Given the description of an element on the screen output the (x, y) to click on. 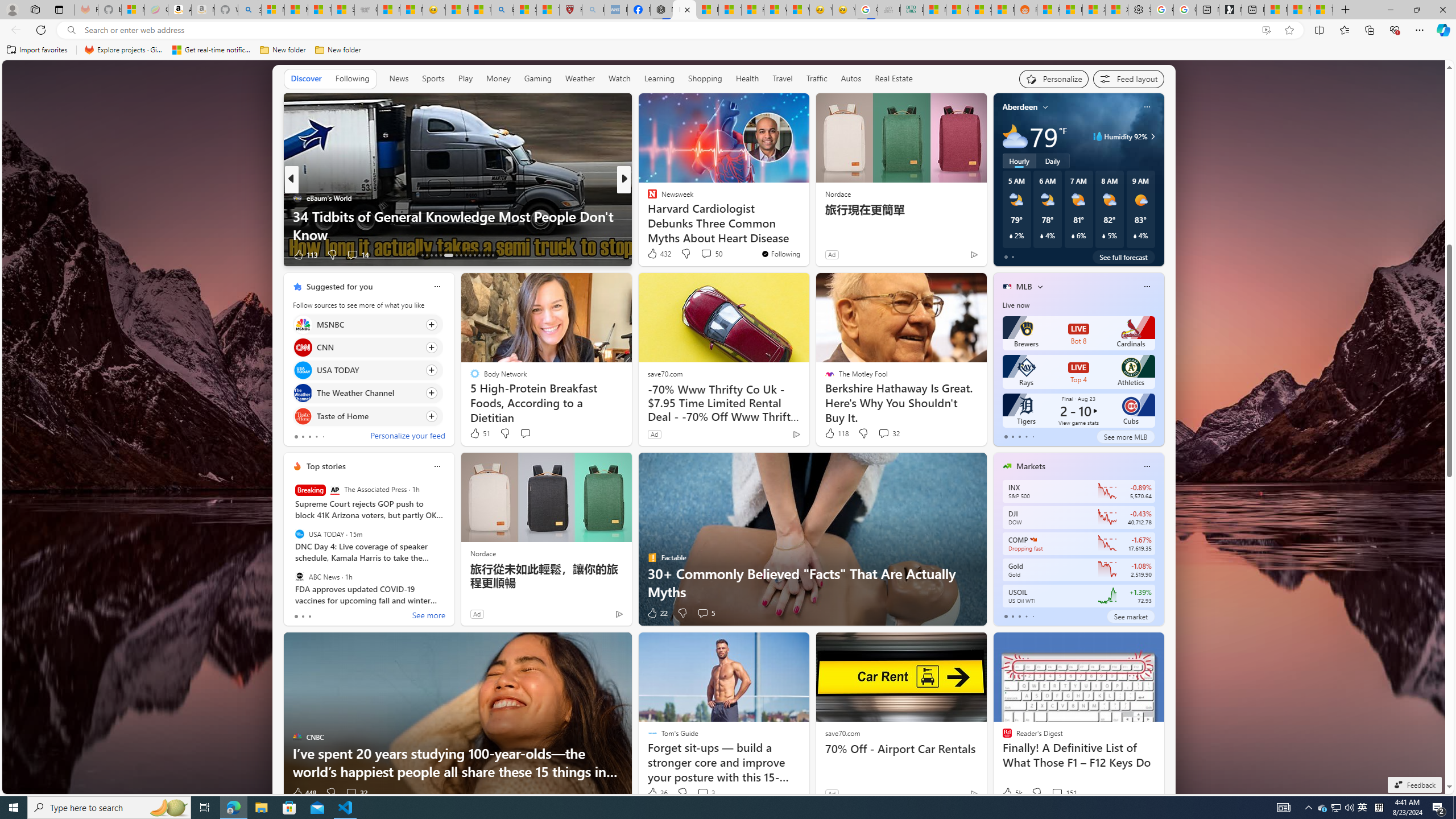
Bing (502, 9)
AutomationID: tab-68 (431, 255)
14 Common Myths Debunked By Scientific Facts (729, 9)
Play (465, 78)
1 Like (651, 254)
Rays LIVE Top 4 Athletics (1077, 371)
tab-2 (1019, 616)
Aberdeen (1019, 106)
